Given the description of an element on the screen output the (x, y) to click on. 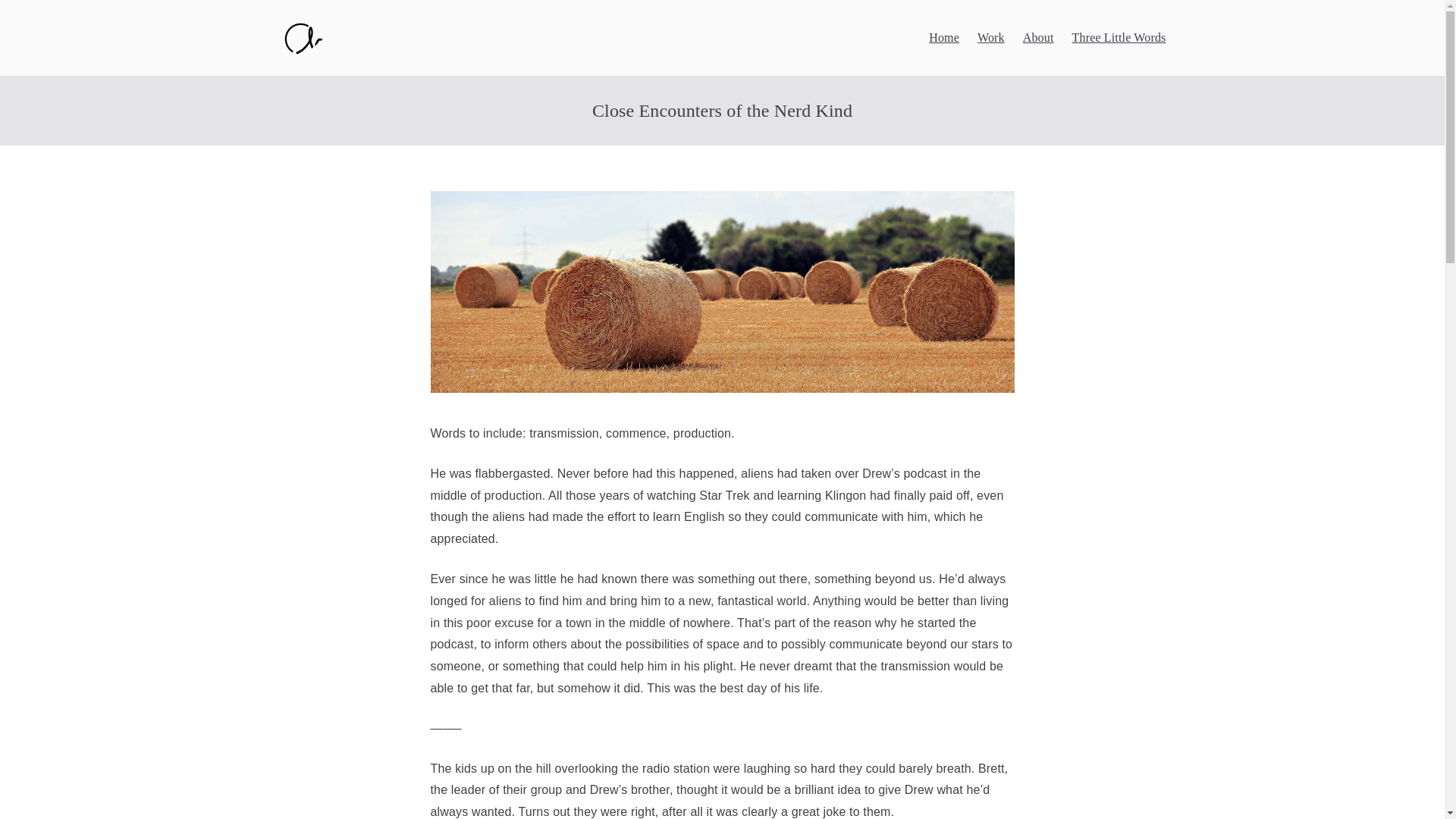
Three Little Words (1118, 38)
Alaine Thompson (467, 57)
Home (943, 38)
About (1038, 38)
Work (990, 38)
